Given the description of an element on the screen output the (x, y) to click on. 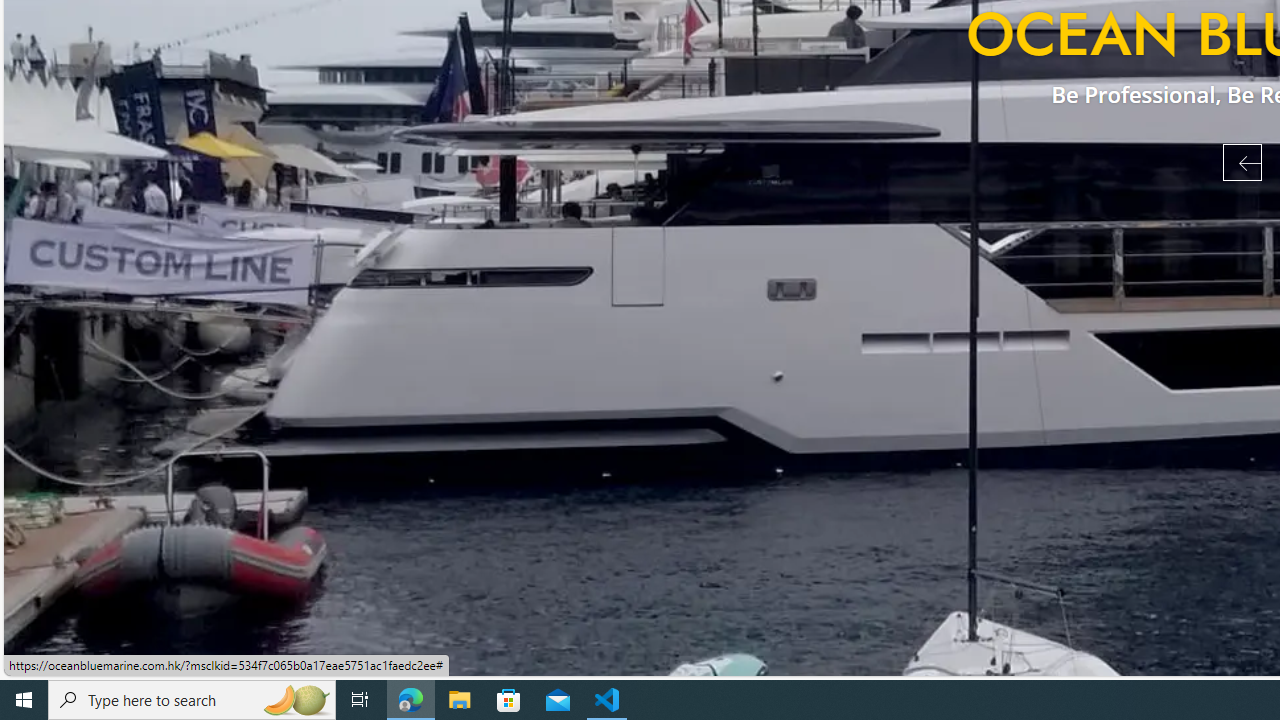
Previous Slide (1242, 161)
